Given the description of an element on the screen output the (x, y) to click on. 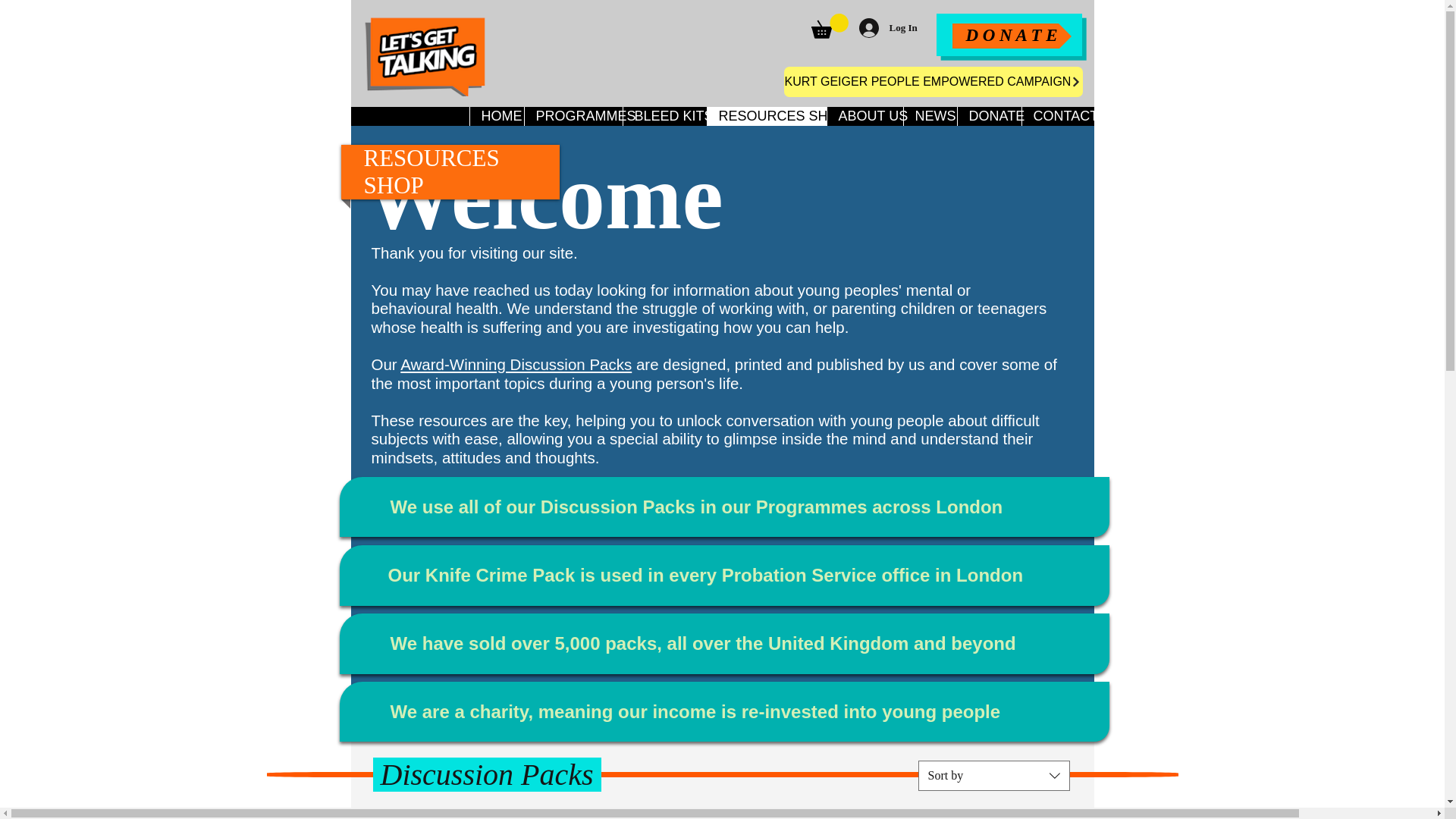
RESOURCES SHOP (766, 116)
BLEED KITS (663, 116)
CONTACT (1056, 116)
Log In (878, 27)
Sort by (992, 775)
Award-Winning Discussion Packs (515, 364)
HOME (495, 116)
PROGRAMMES (571, 116)
KURT GEIGER PEOPLE EMPOWERED CAMPAIGN (933, 81)
ABOUT US (864, 116)
